Given the description of an element on the screen output the (x, y) to click on. 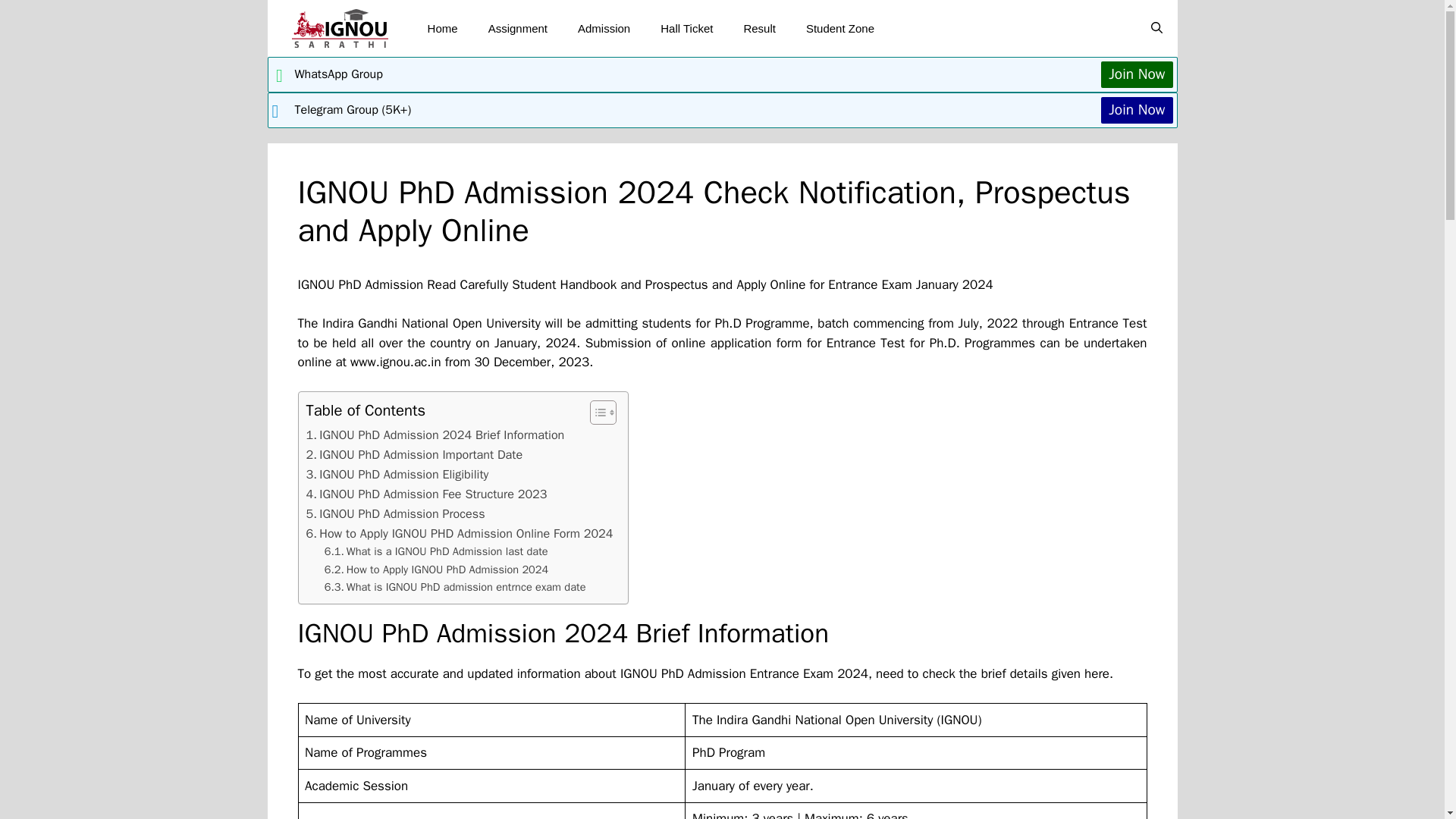
IGNOU PhD Admission Important Date (413, 455)
IGNOU PhD Admission Eligibility (397, 474)
Join Now (1136, 74)
Home (442, 28)
Hall Ticket (686, 28)
What is IGNOU PhD admission entrnce exam date (455, 587)
IGNOU PhD Admission Fee Structure 2023 (426, 494)
Assignment (517, 28)
How to Apply IGNOU PHD Admission Online Form 2024 (458, 533)
How to Apply IGNOU PhD Admission 2024 (436, 569)
Student Zone (839, 28)
IGNOU PhD Admission Important Date (413, 455)
How to Apply IGNOU PHD Admission Online Form 2024 (458, 533)
IGNOU PhD Admission Process (394, 514)
IGNOU Sarathi (339, 28)
